Given the description of an element on the screen output the (x, y) to click on. 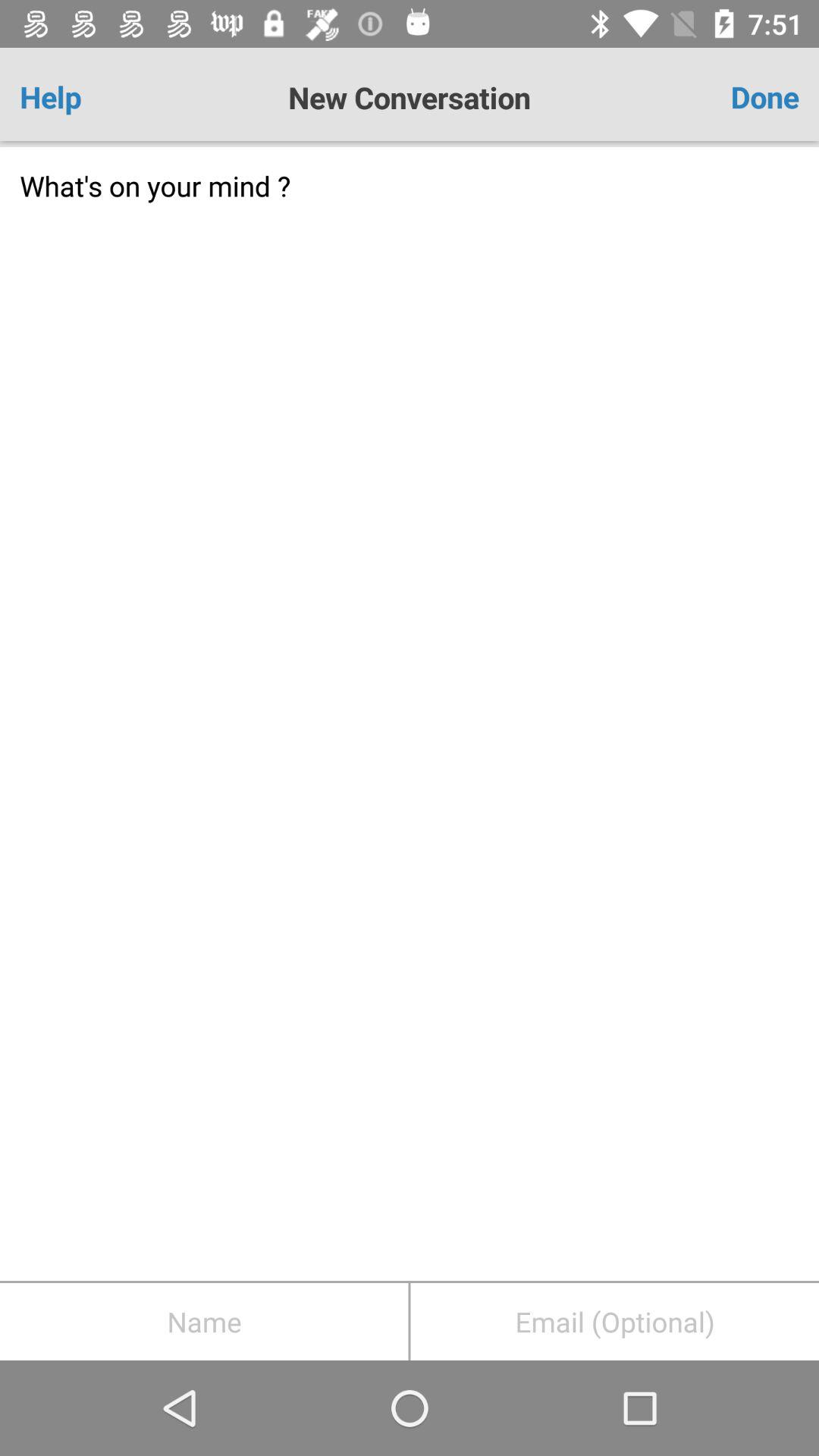
flip until help icon (83, 97)
